Given the description of an element on the screen output the (x, y) to click on. 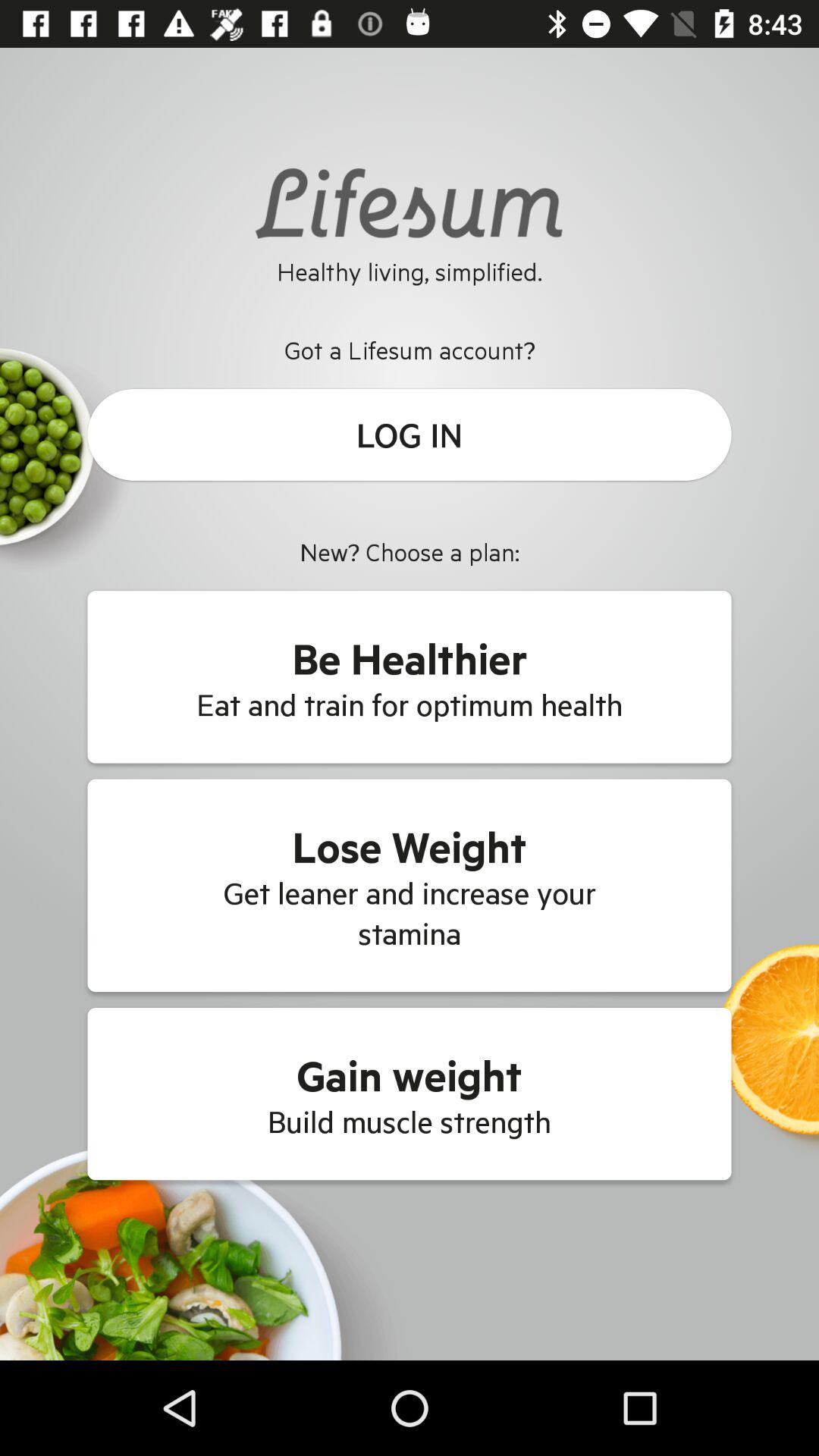
launch the icon below got a lifesum icon (409, 434)
